Given the description of an element on the screen output the (x, y) to click on. 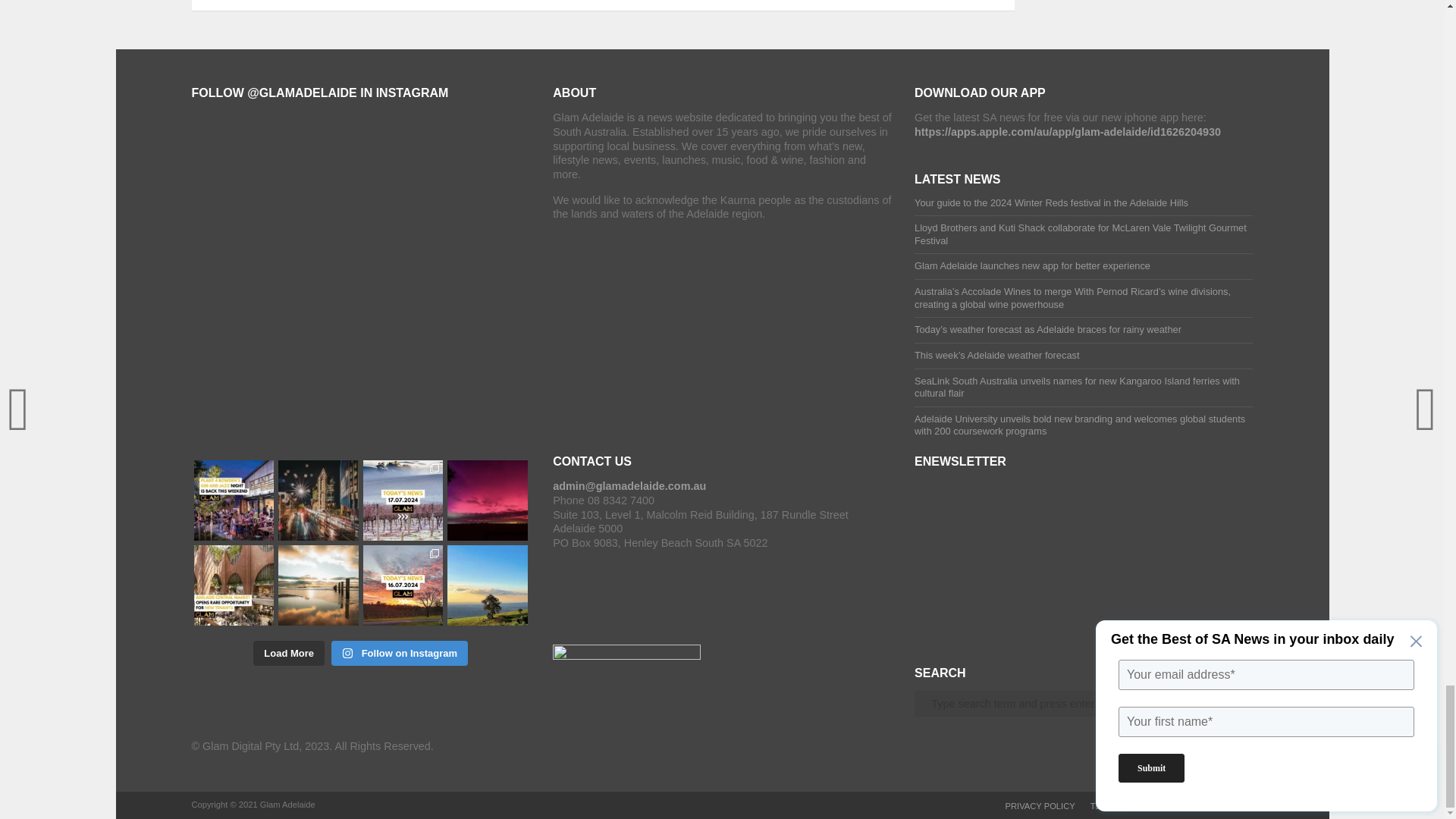
Type search term and press enter (1083, 703)
